Given the description of an element on the screen output the (x, y) to click on. 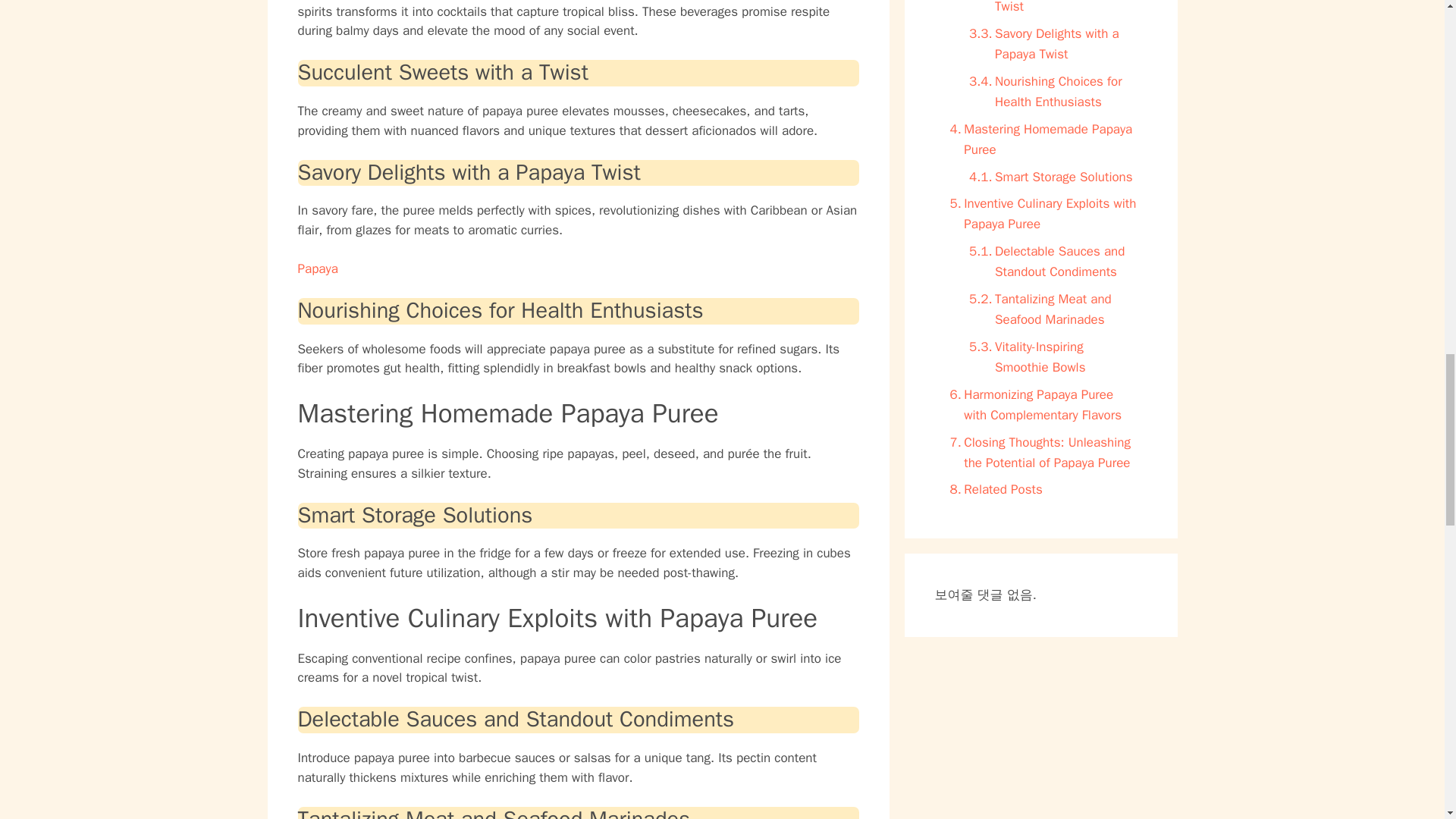
Papaya (317, 268)
